Given the description of an element on the screen output the (x, y) to click on. 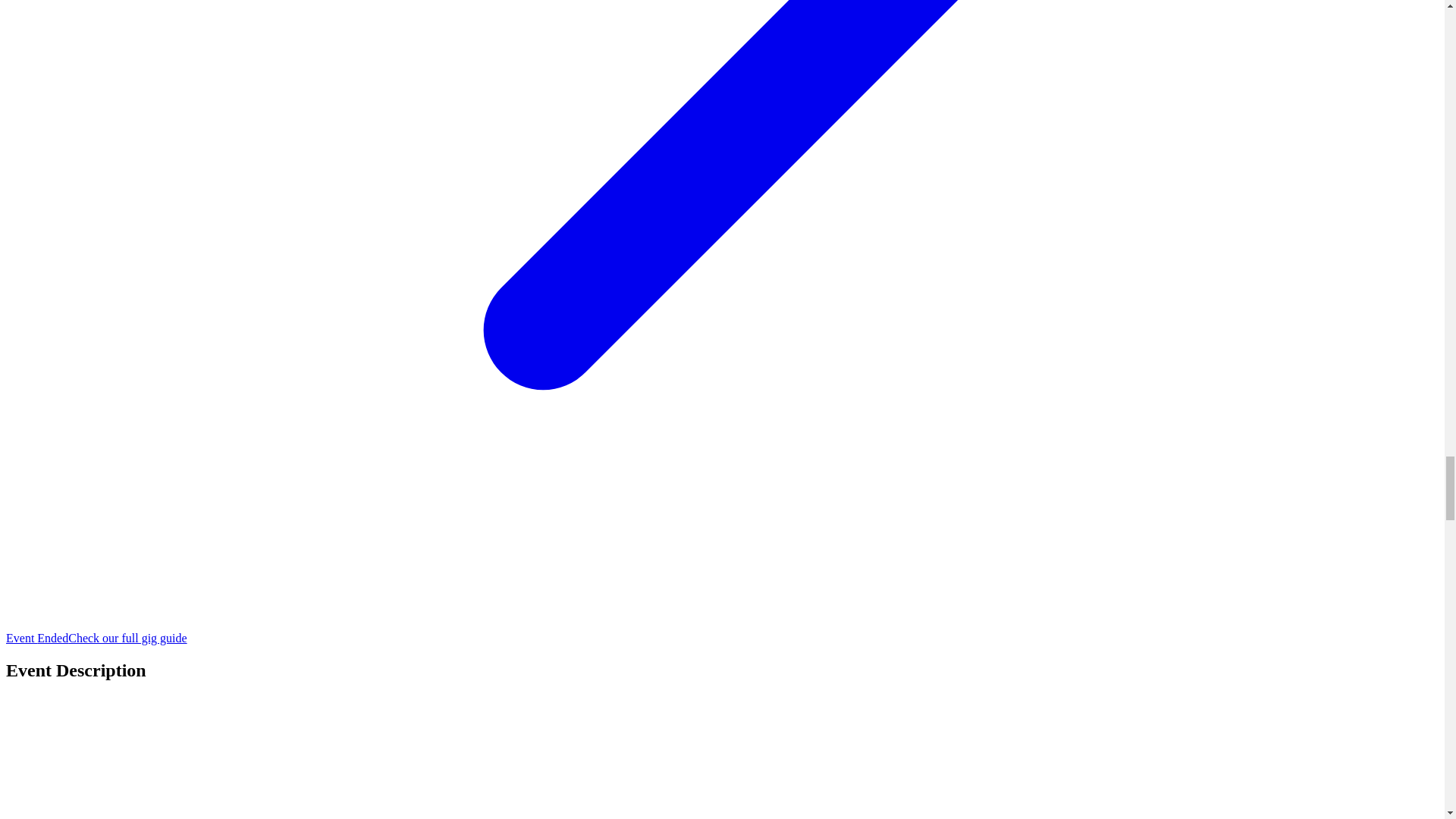
Event Ended (36, 637)
Check our full gig guide (127, 637)
